Given the description of an element on the screen output the (x, y) to click on. 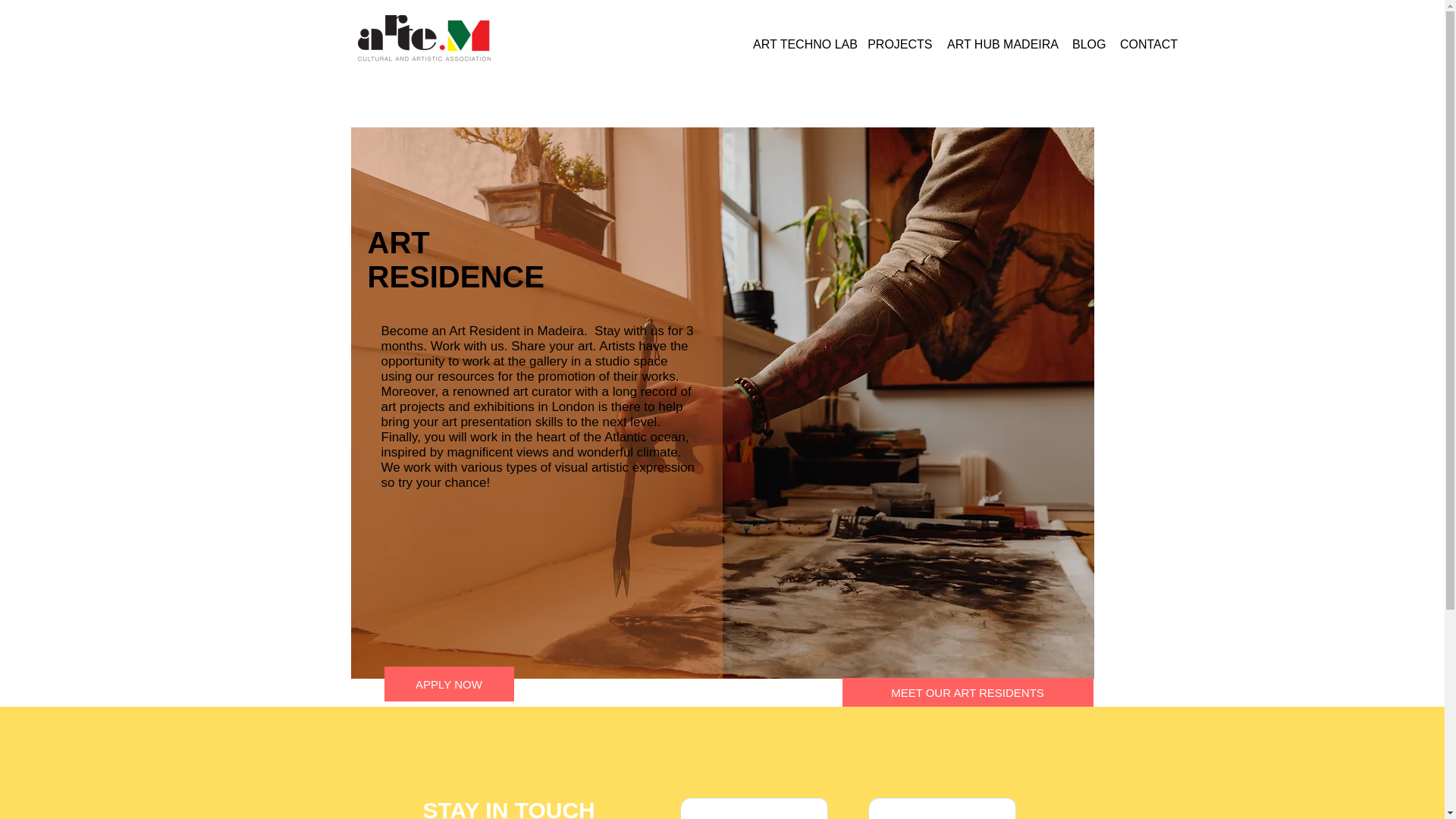
PROJECTS (901, 37)
MEET OUR ART RESIDENTS (967, 692)
ART HUB MADEIRA (1002, 37)
ART TECHNO LAB (804, 37)
CONTACT (1149, 37)
APPLY NOW (448, 683)
BLOG (1088, 37)
